Given the description of an element on the screen output the (x, y) to click on. 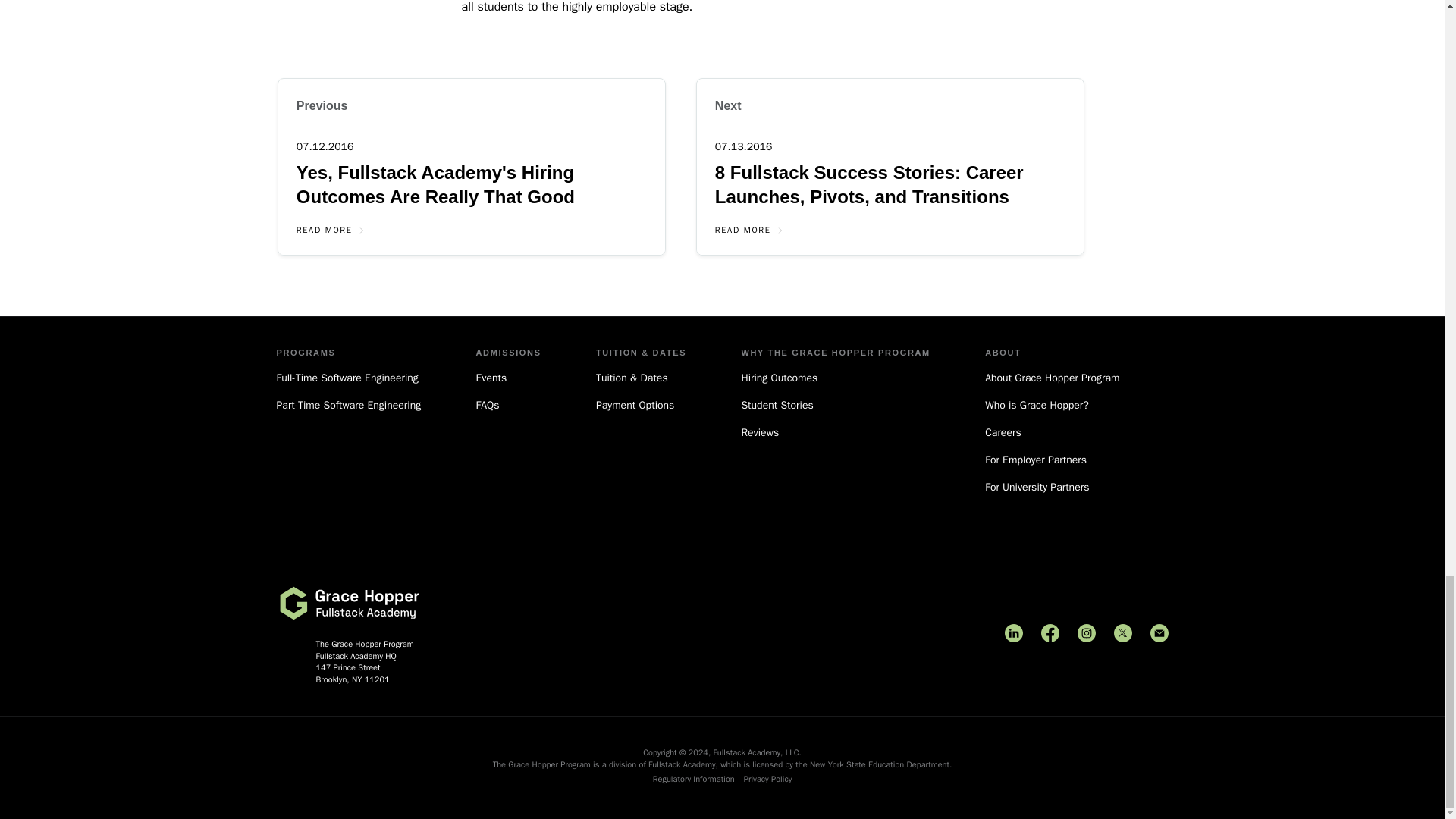
Full-Time Software Engineering (348, 378)
Part-Time Software Engineering (348, 405)
